Given the description of an element on the screen output the (x, y) to click on. 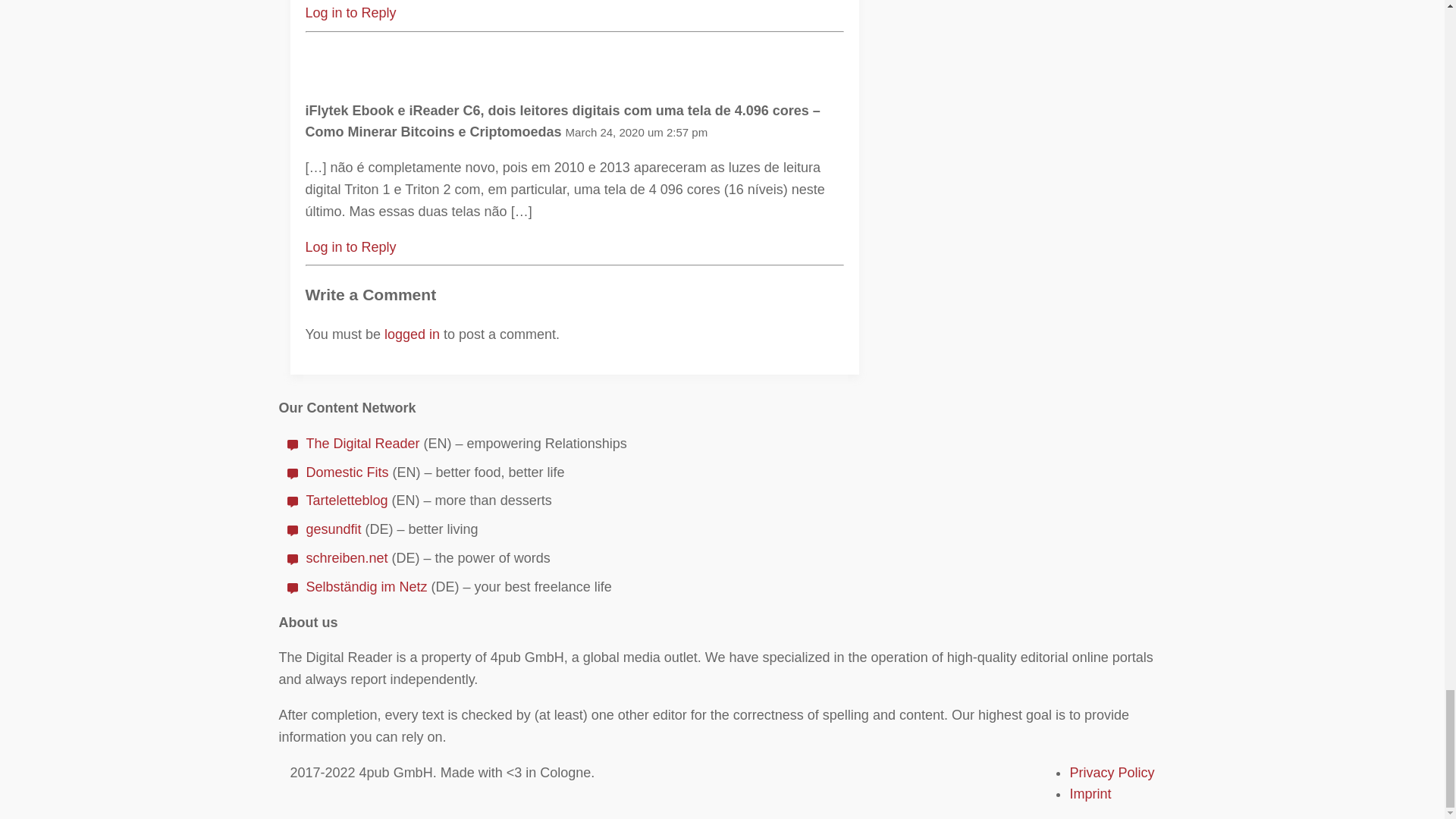
Log in to Reply (350, 246)
Log in to Reply (350, 12)
